Given the description of an element on the screen output the (x, y) to click on. 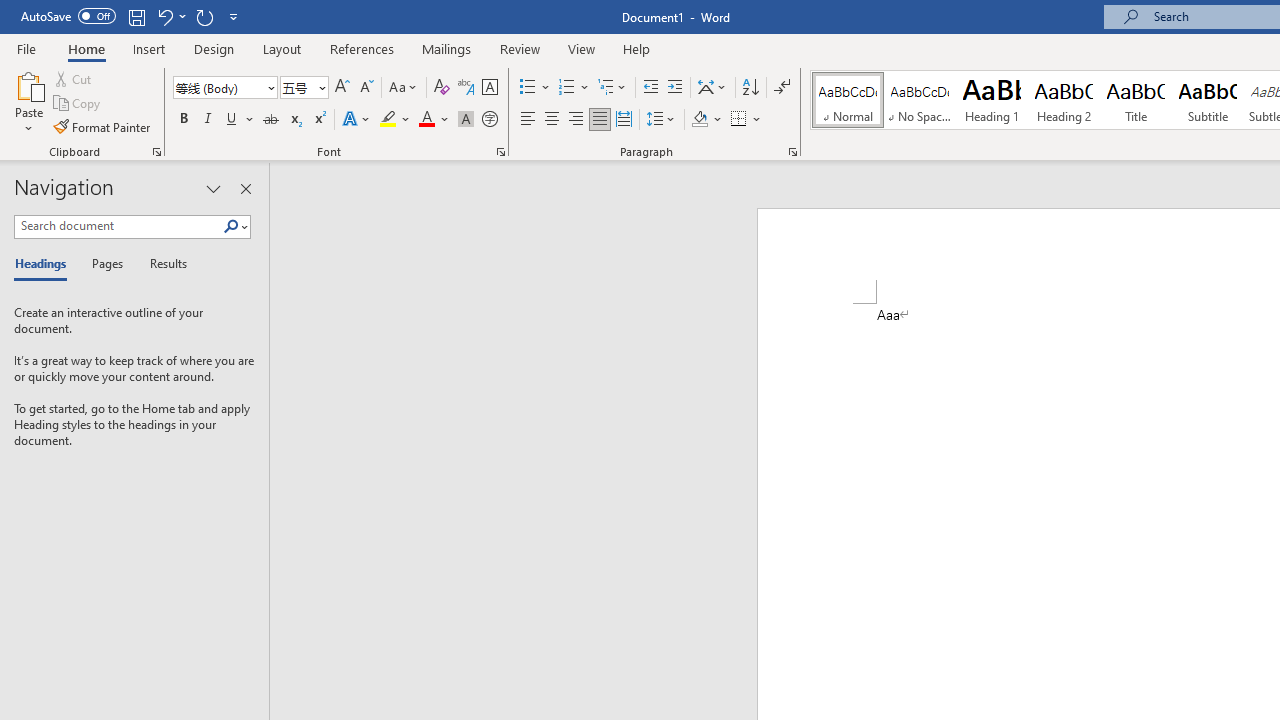
Subtitle (1208, 100)
AutoSave (68, 16)
Home (86, 48)
Increase Indent (675, 87)
Save (136, 15)
Heading 2 (1063, 100)
Justify (599, 119)
Font Color Red (426, 119)
Underline (239, 119)
Class: NetUIImage (231, 226)
File Tab (26, 48)
Office Clipboard... (156, 151)
Format Painter (103, 126)
Shading RGB(0, 0, 0) (699, 119)
Show/Hide Editing Marks (781, 87)
